Given the description of an element on the screen output the (x, y) to click on. 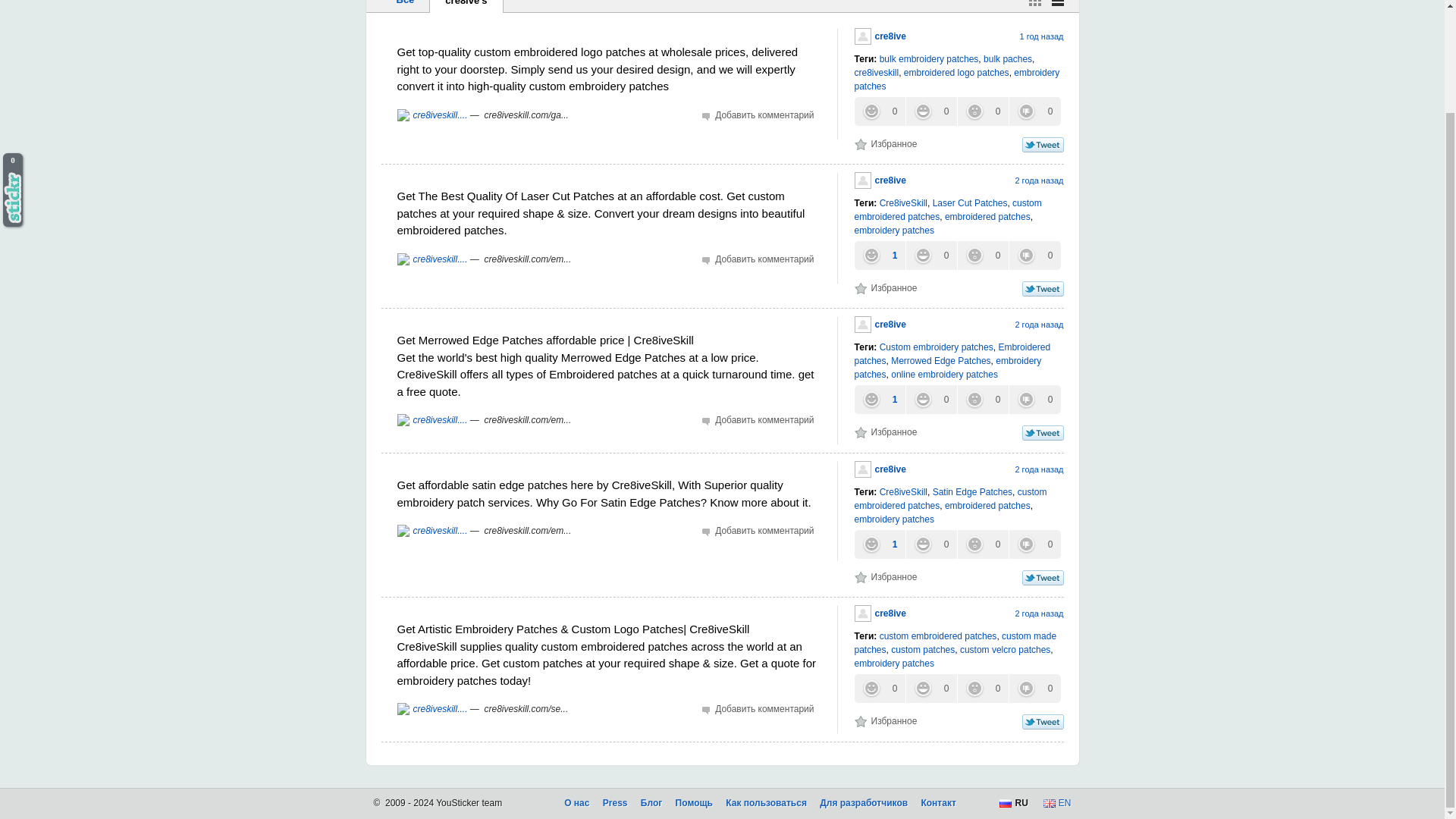
0 (1034, 111)
default (1056, 2)
sucks (1034, 255)
cre8ive (879, 36)
embroidered logo patches (956, 72)
omg (981, 255)
cre8ive (879, 180)
bulk embroidery patches (928, 59)
like (878, 255)
cre8ive's (465, 6)
sucks (1034, 111)
Tweet this post (1043, 144)
like (878, 111)
cre8iveskill (875, 72)
lol (930, 111)
